Given the description of an element on the screen output the (x, y) to click on. 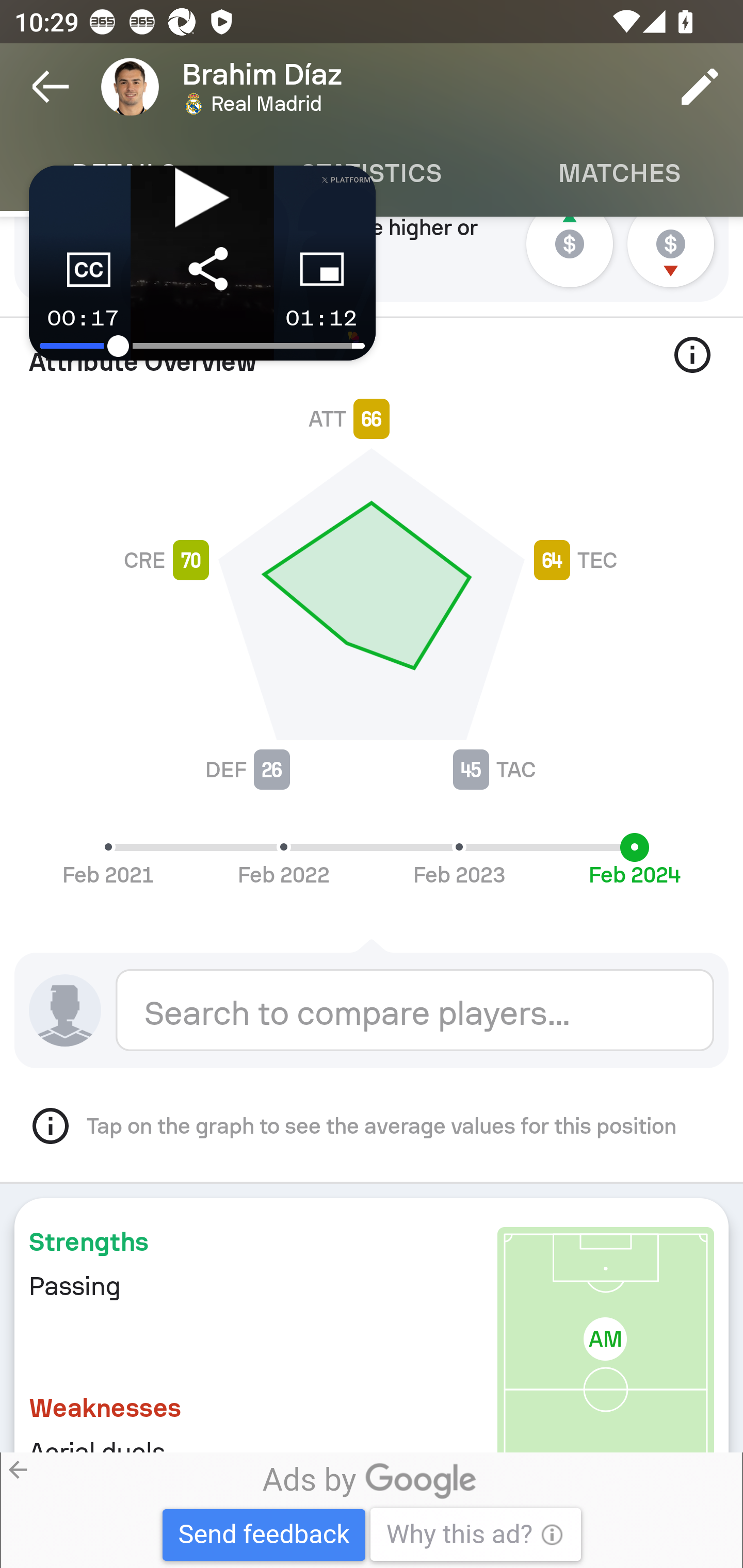
Navigate up (50, 86)
Edit (699, 86)
Matches MATCHES (619, 173)
Search to compare players… (414, 1009)
